Given the description of an element on the screen output the (x, y) to click on. 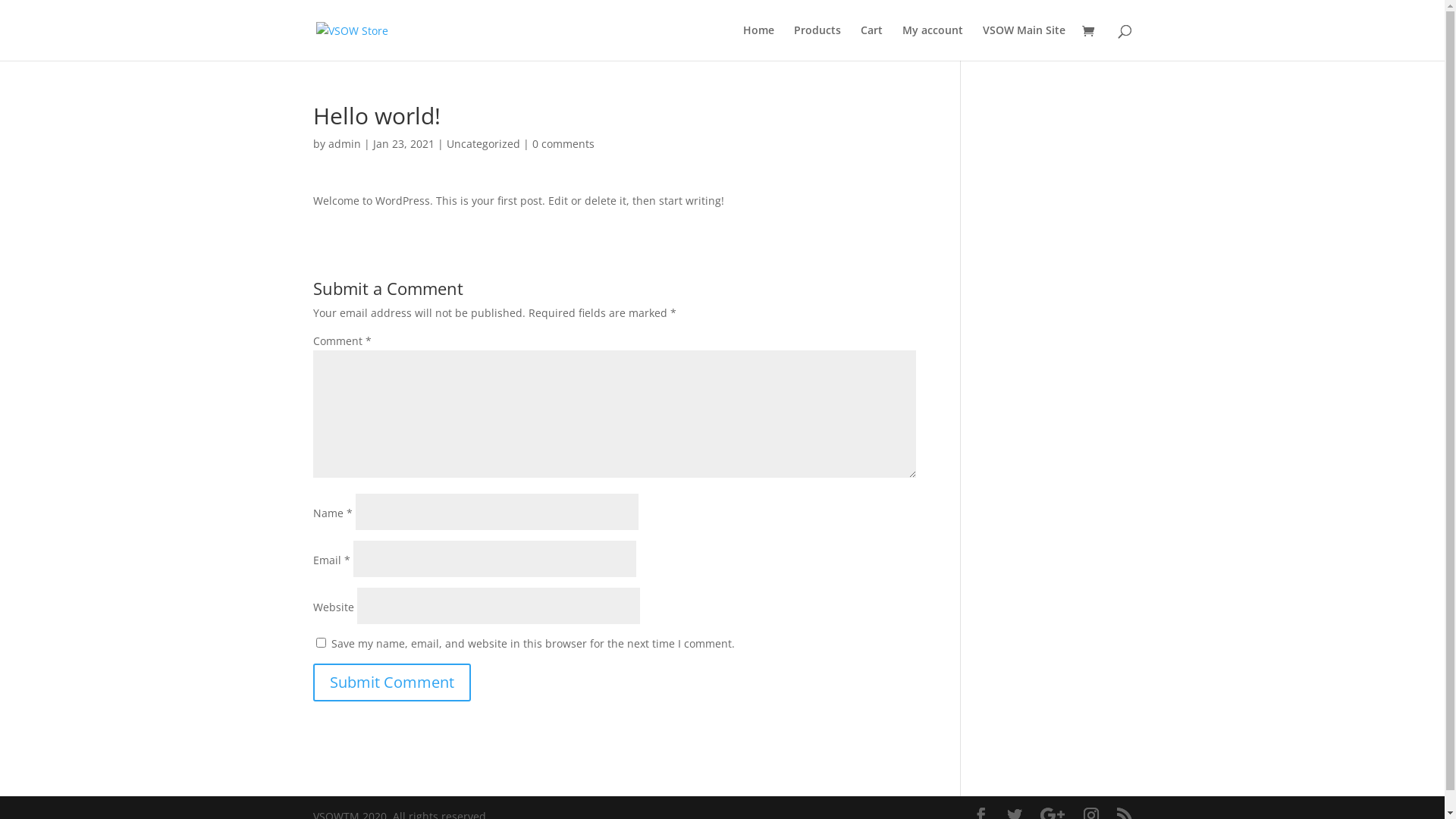
0 comments Element type: text (563, 143)
Uncategorized Element type: text (482, 143)
admin Element type: text (343, 143)
Home Element type: text (758, 42)
My account Element type: text (932, 42)
Submit Comment Element type: text (391, 682)
VSOW Main Site Element type: text (1023, 42)
Cart Element type: text (870, 42)
Products Element type: text (816, 42)
